Given the description of an element on the screen output the (x, y) to click on. 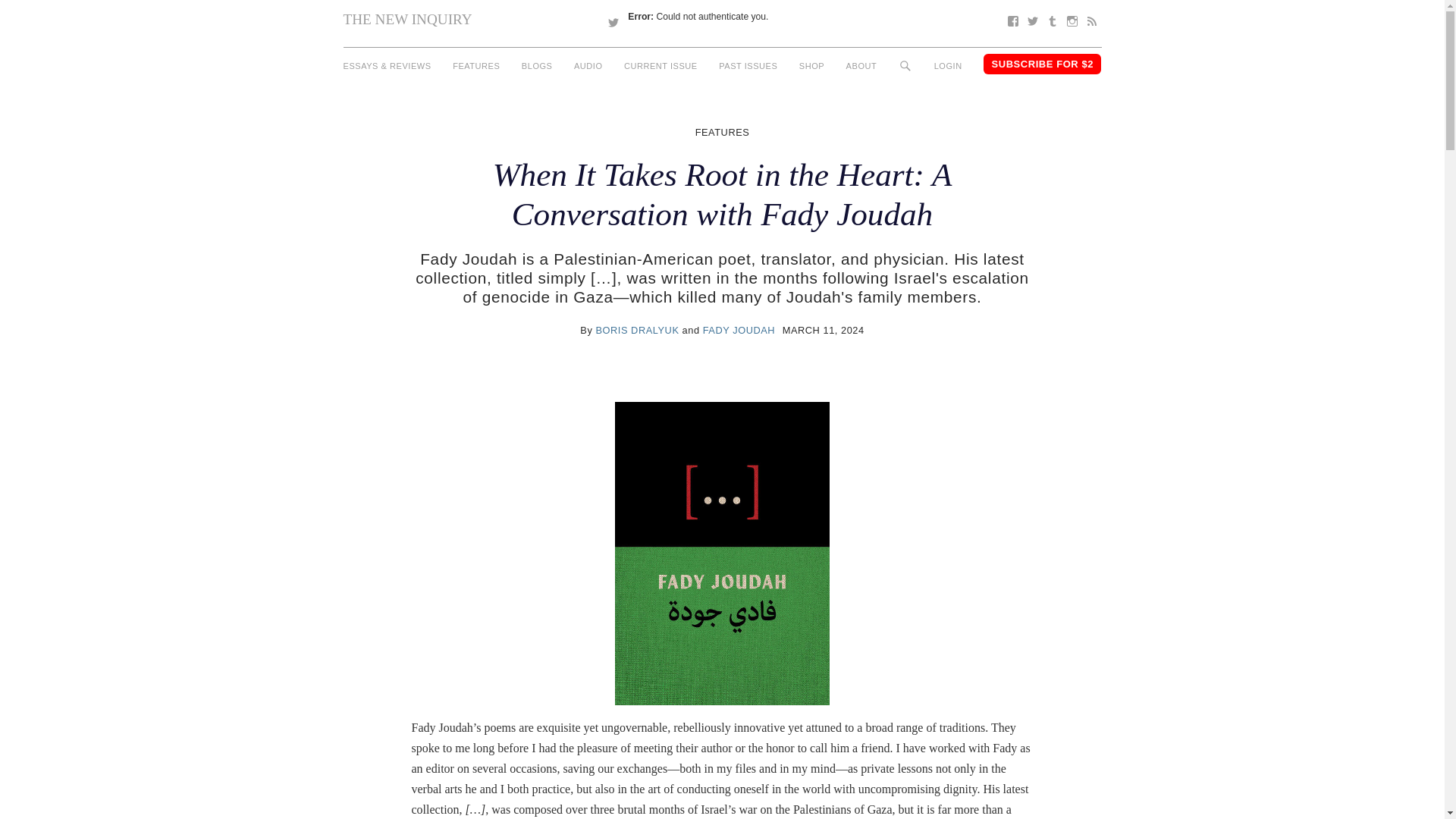
BORIS DRALYUK (636, 329)
FEATURES (722, 132)
CURRENT ISSUE (660, 66)
Instagram (1071, 21)
PAST ISSUES (748, 66)
BLOGS (537, 66)
FADY JOUDAH (738, 329)
MARCH 11, 2024 (823, 329)
Posts by Fady Joudah (738, 329)
THE NEW INQUIRY (406, 19)
